Given the description of an element on the screen output the (x, y) to click on. 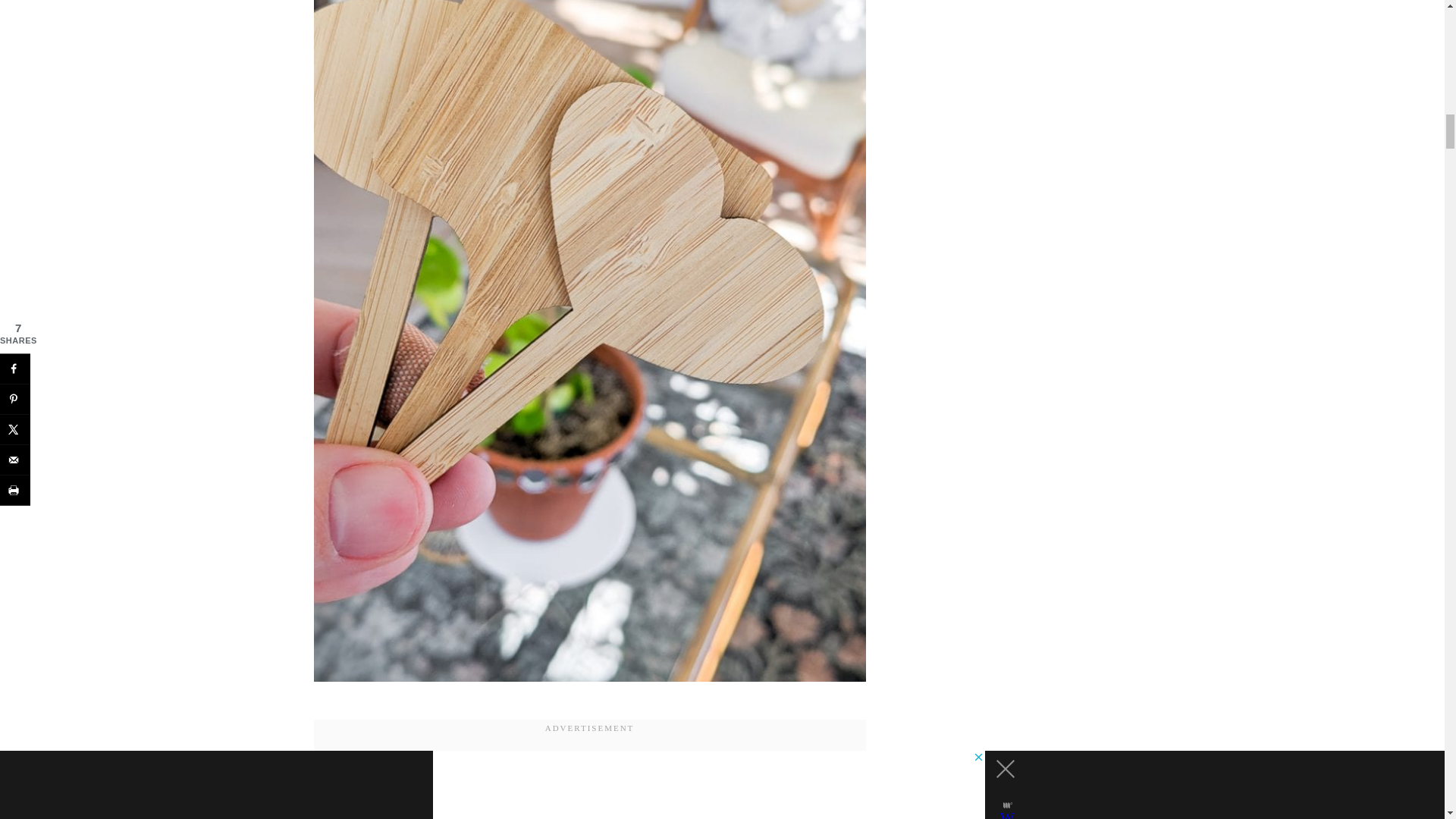
3rd party ad content (589, 778)
